Given the description of an element on the screen output the (x, y) to click on. 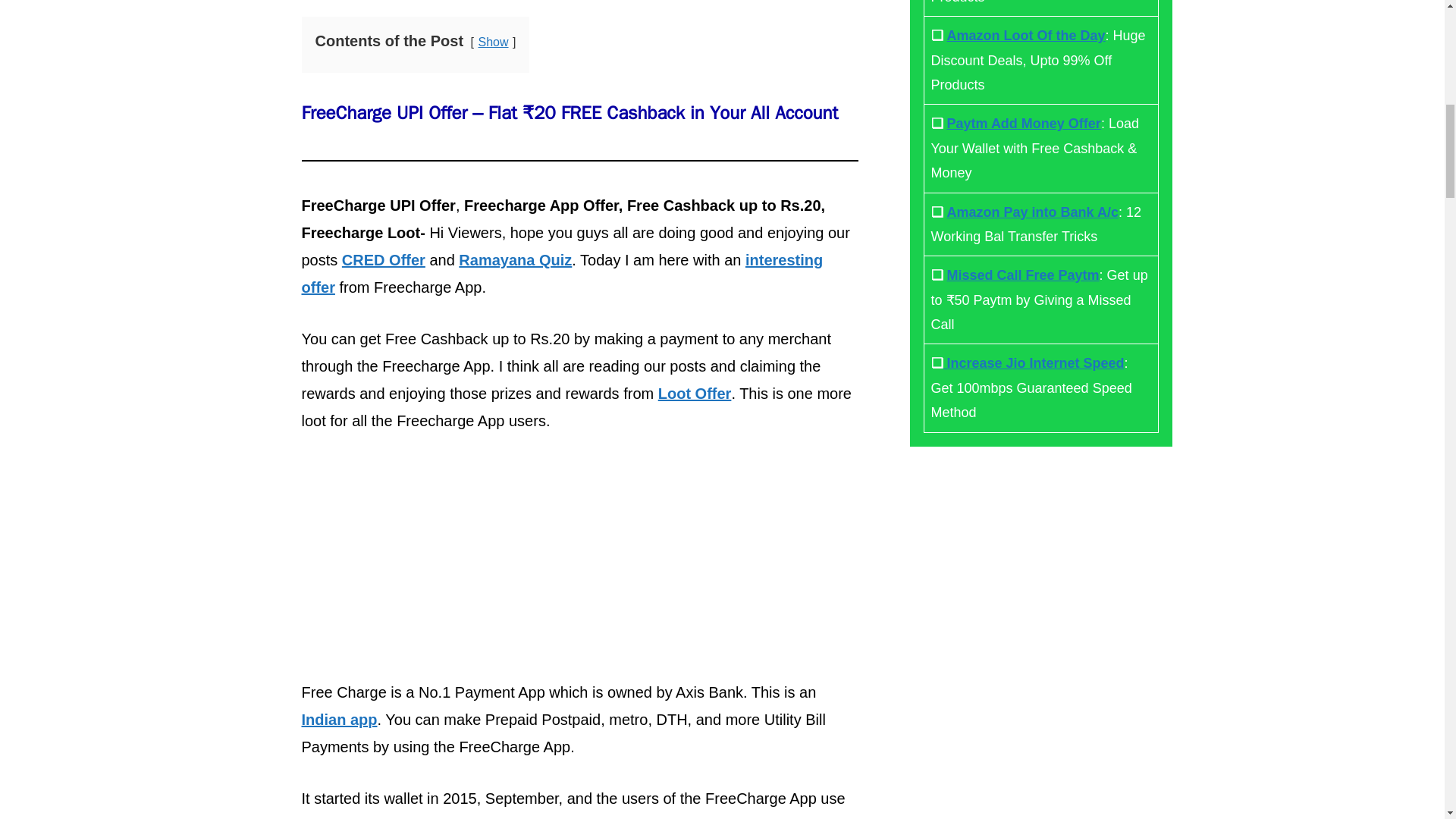
Loot Offer (695, 393)
Indian app (339, 719)
CRED Offer (383, 259)
Show (493, 41)
Scroll back to top (1406, 720)
interesting offer (562, 273)
Ramayana Quiz (515, 259)
